Given the description of an element on the screen output the (x, y) to click on. 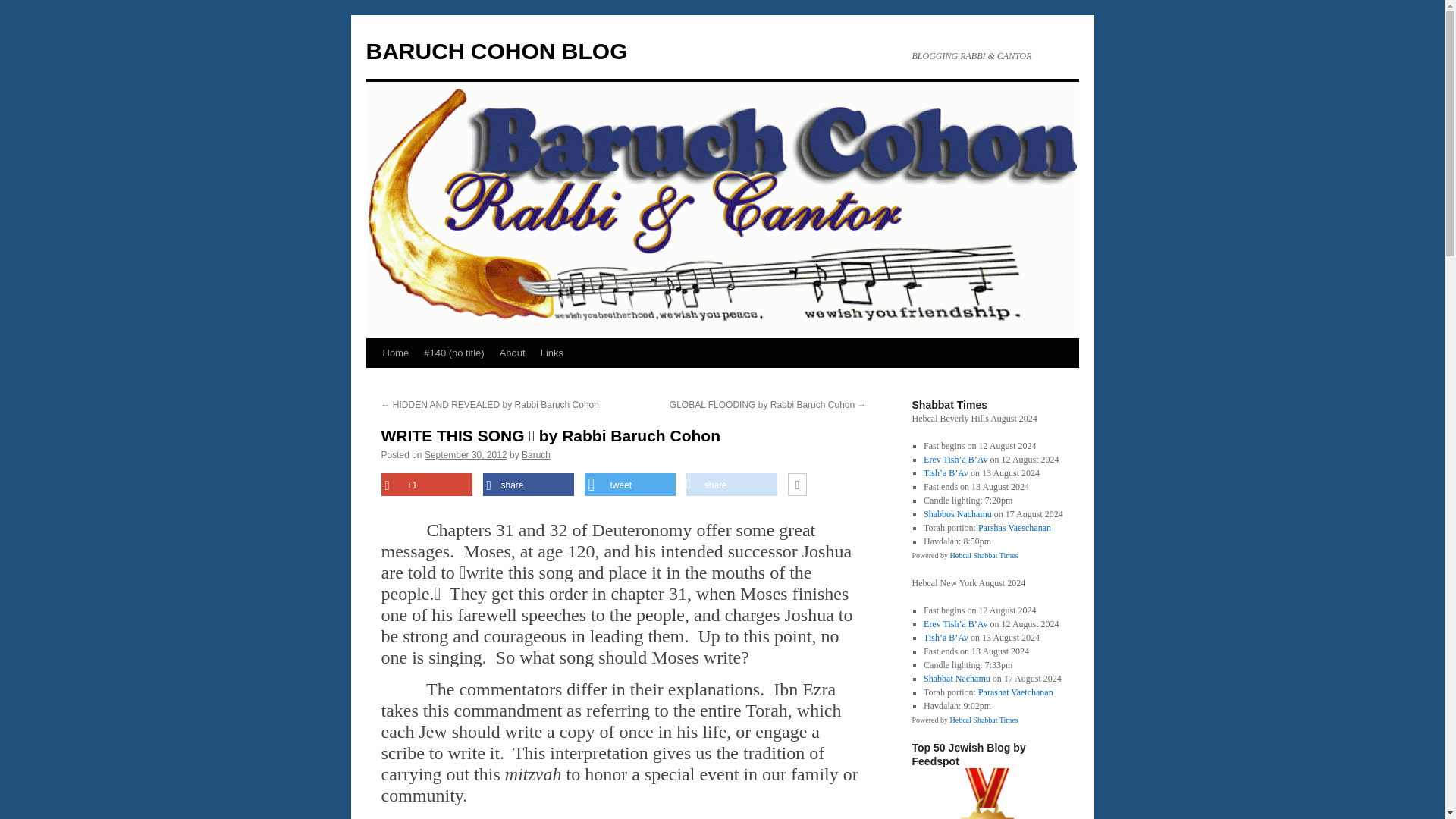
Shabbos Nachamu (957, 513)
Share on Twitter (629, 484)
BARUCH COHON BLOG (496, 50)
September 30, 2012 (465, 454)
share (730, 484)
About (512, 353)
Links (551, 353)
View all posts by Baruch (535, 454)
Parshas Vaeschanan (1014, 527)
Hebcal Shabbat Times (983, 555)
